Given the description of an element on the screen output the (x, y) to click on. 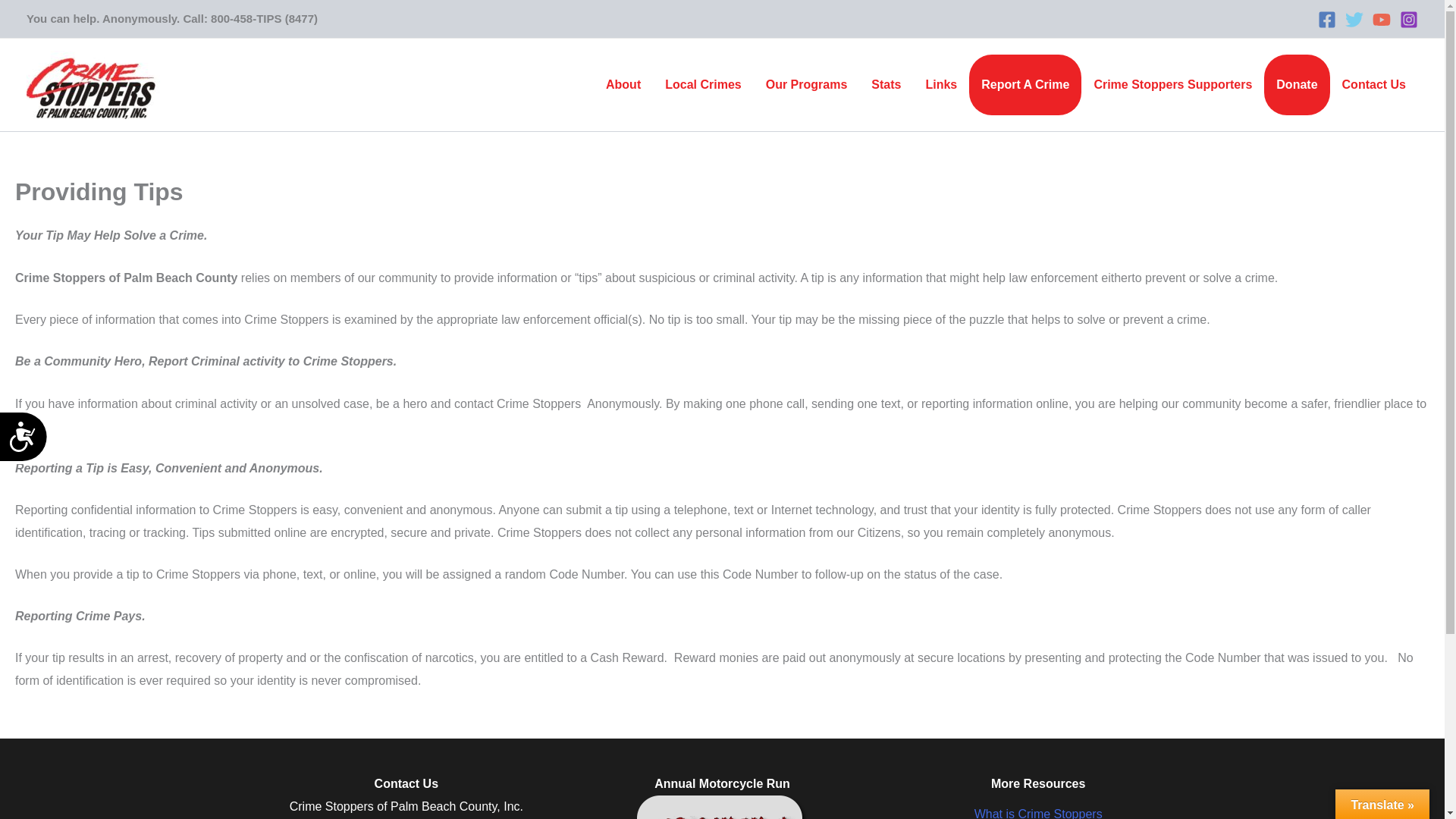
Crime Stoppers Supporters (1172, 84)
Our Programs (807, 84)
About (623, 84)
Accessibility (31, 443)
Report A Crime (1025, 84)
Contact Us (1374, 84)
Donate (1296, 84)
Links (940, 84)
Local Crimes (702, 84)
